Given the description of an element on the screen output the (x, y) to click on. 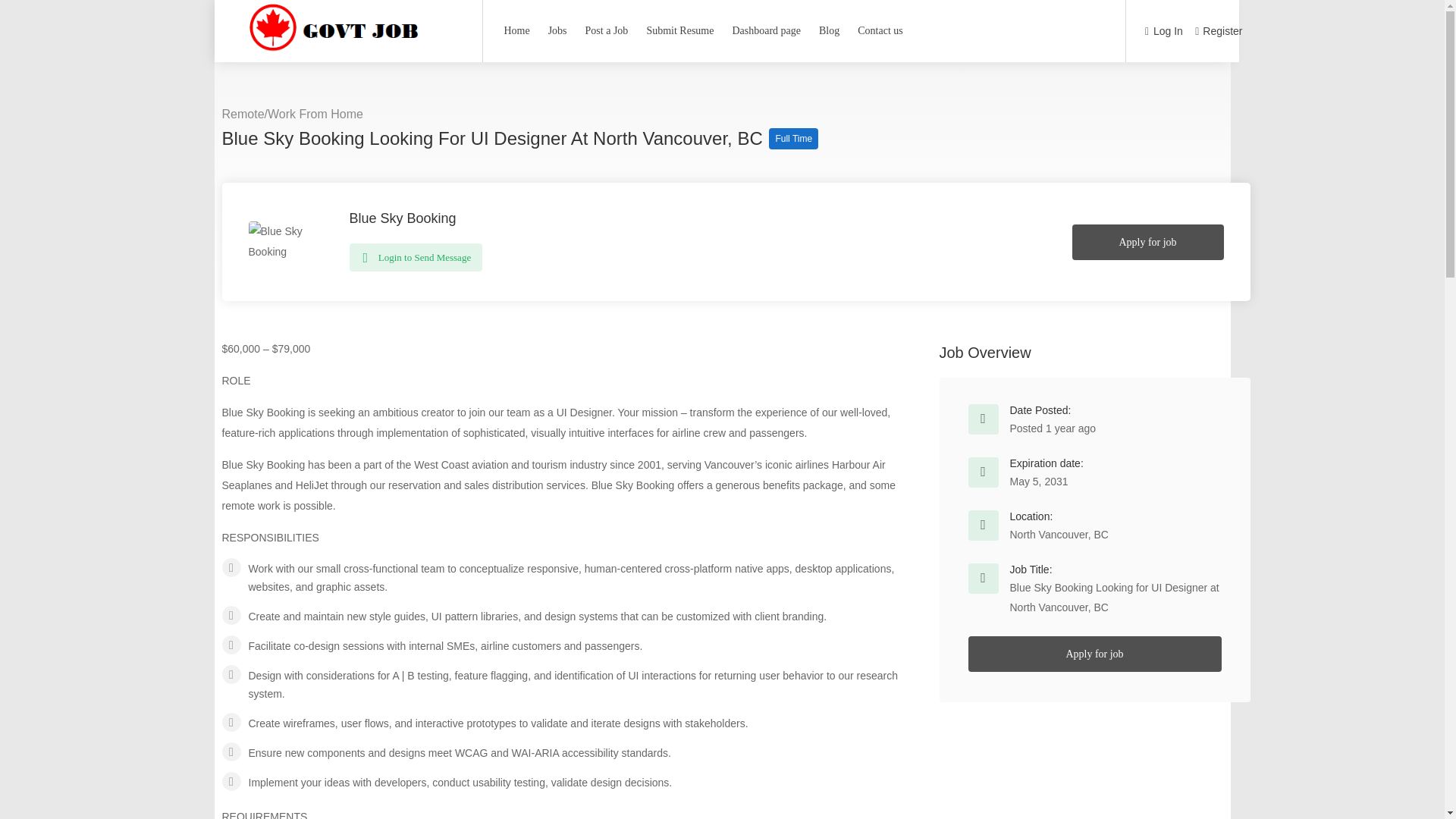
Jobs (557, 30)
Submit Resume (679, 30)
Blog (828, 30)
Home (516, 30)
Login to Send Message (415, 257)
Dashboard page (766, 30)
Canada Government Jobs (342, 51)
Post a Job (606, 30)
Contact us (879, 30)
